Given the description of an element on the screen output the (x, y) to click on. 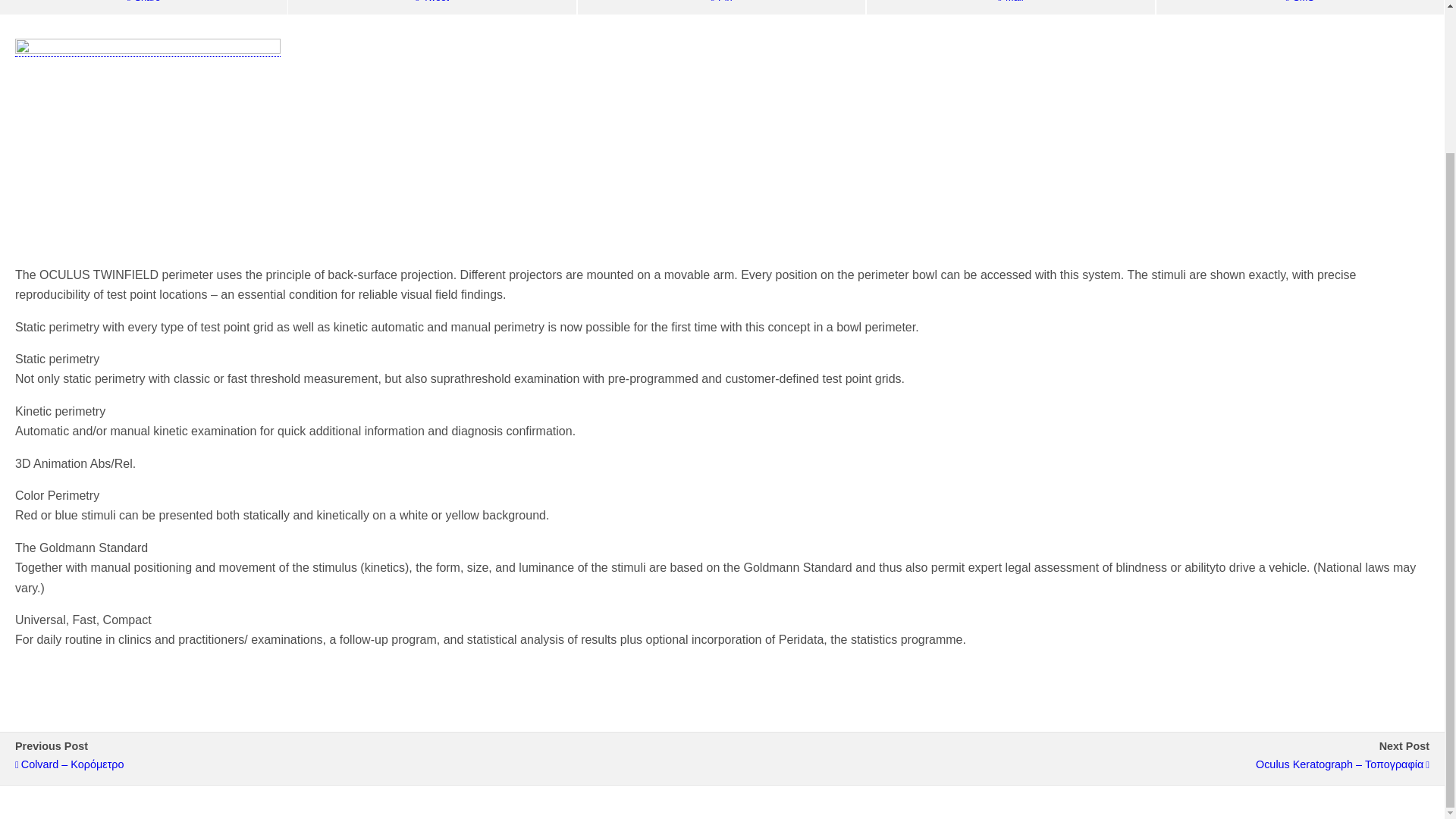
Tweet (431, 7)
Mail (1010, 7)
Pin (721, 7)
Share (143, 7)
